Given the description of an element on the screen output the (x, y) to click on. 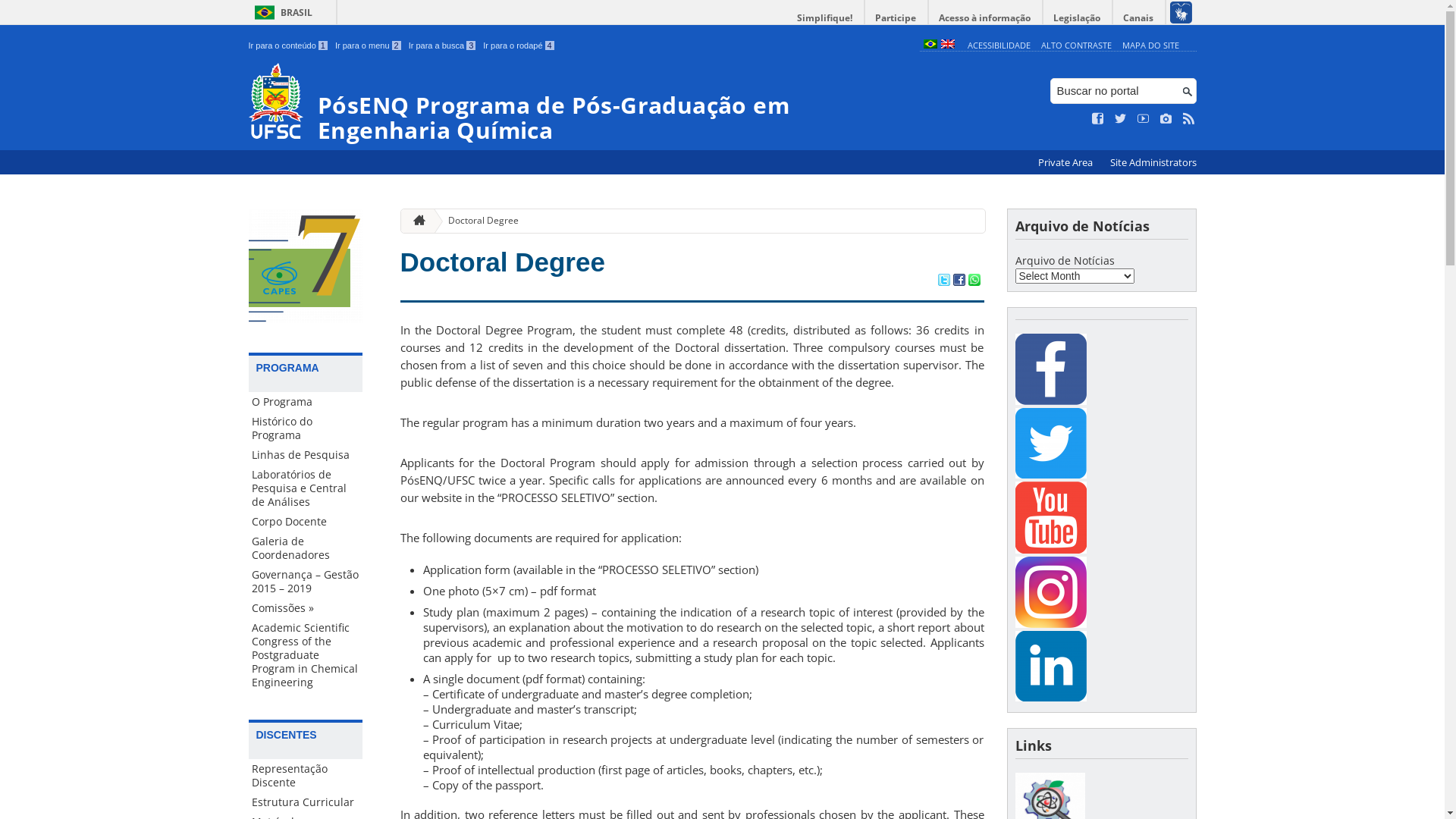
ACESSIBILIDADE Element type: text (998, 44)
O Programa Element type: text (305, 401)
Galeria de Coordenadores Element type: text (305, 547)
Compartilhar no WhatsApp Element type: hover (973, 280)
Facebook Element type: hover (1049, 368)
ALTO CONTRASTE Element type: text (1076, 44)
Canal Youtube Element type: hover (1049, 549)
LinkedIn Element type: hover (1049, 697)
Compartilhar no Twitter Element type: hover (943, 280)
Simplifique! Element type: text (825, 18)
Ir para o menu 2 Element type: text (368, 45)
Private Area Element type: text (1065, 162)
Linhas de Pesquisa Element type: text (305, 454)
English (en) Element type: hover (946, 44)
Doctoral Degree Element type: text (502, 261)
Instagram Element type: hover (1049, 591)
Curta no Facebook Element type: hover (1098, 118)
Facebook Element type: hover (1049, 400)
Compartilhar no Facebook Element type: hover (958, 280)
Site Administrators Element type: text (1153, 162)
Participe Element type: text (895, 18)
Veja no Instagram Element type: hover (1166, 118)
MAPA DO SITE Element type: text (1150, 44)
Canal Youtube Element type: hover (1049, 517)
Canais Element type: text (1138, 18)
Corpo Docente Element type: text (305, 521)
LinkedIn Element type: hover (1049, 665)
Siga no Twitter Element type: hover (1120, 118)
BRASIL Element type: text (280, 12)
Doctoral Degree Element type: text (476, 220)
Ir para a busca 3 Element type: text (442, 45)
Instagram Element type: hover (1049, 623)
Estrutura Curricular Element type: text (305, 802)
